Given the description of an element on the screen output the (x, y) to click on. 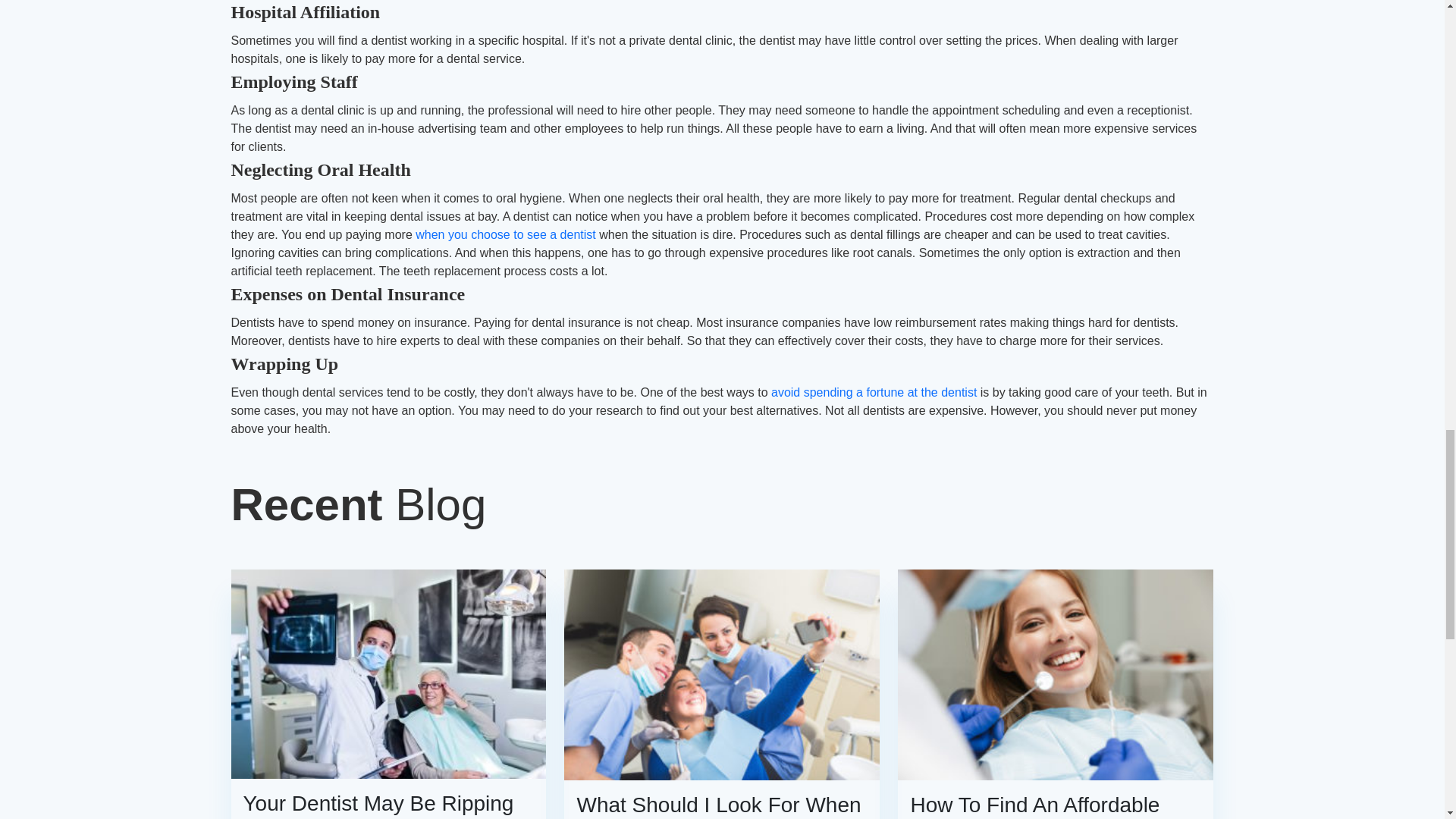
How To Find An Affordable Dentist (1055, 805)
when you choose to see a dentist (504, 234)
Your Dentist May Be Ripping You Off (388, 805)
avoid spending a fortune at the dentist (873, 391)
What Should I Look For When Choosing A Dentist? (721, 805)
